Given the description of an element on the screen output the (x, y) to click on. 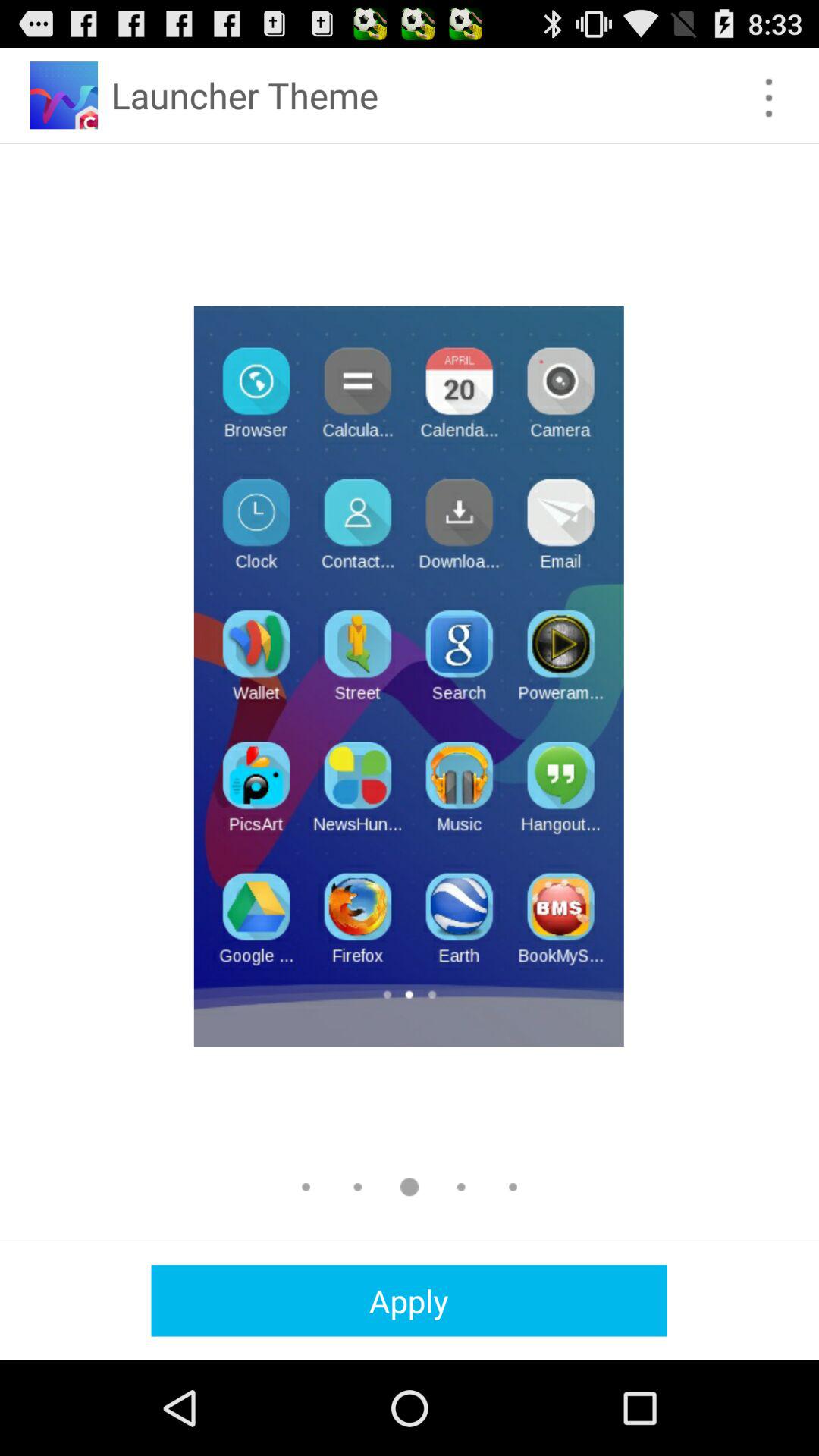
options button (768, 97)
